Given the description of an element on the screen output the (x, y) to click on. 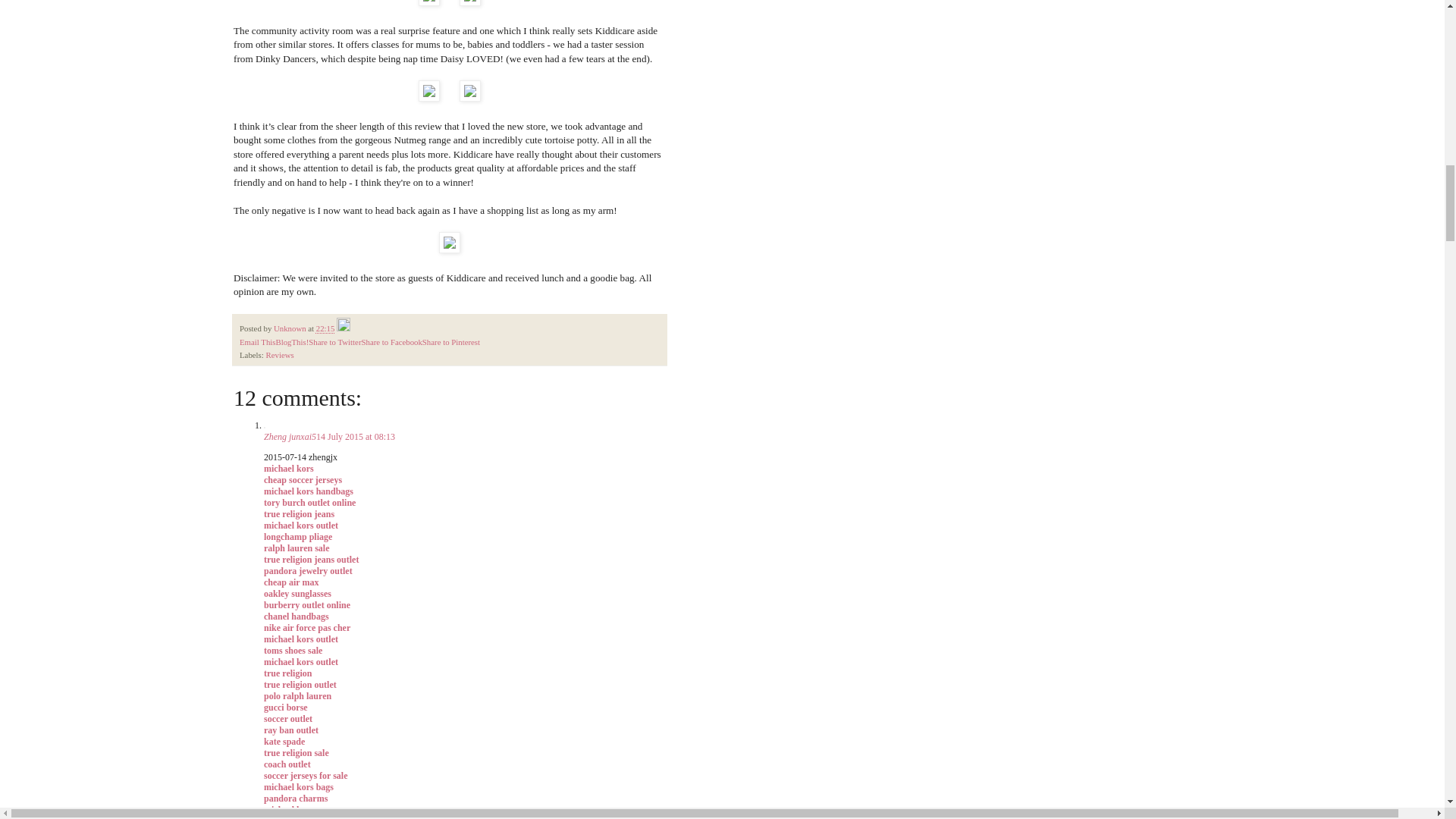
permanent link (324, 327)
michael kors (288, 468)
Unknown (290, 327)
michael kors handbags (308, 491)
Edit Post (343, 327)
ralph lauren sale (296, 547)
Share to Facebook (391, 341)
Share to Twitter (334, 341)
longchamp pliage (297, 536)
tory burch outlet online (309, 502)
true religion jeans (298, 513)
Reviews (279, 354)
Email This (257, 341)
cheap soccer jerseys (302, 480)
michael kors outlet (300, 525)
